Given the description of an element on the screen output the (x, y) to click on. 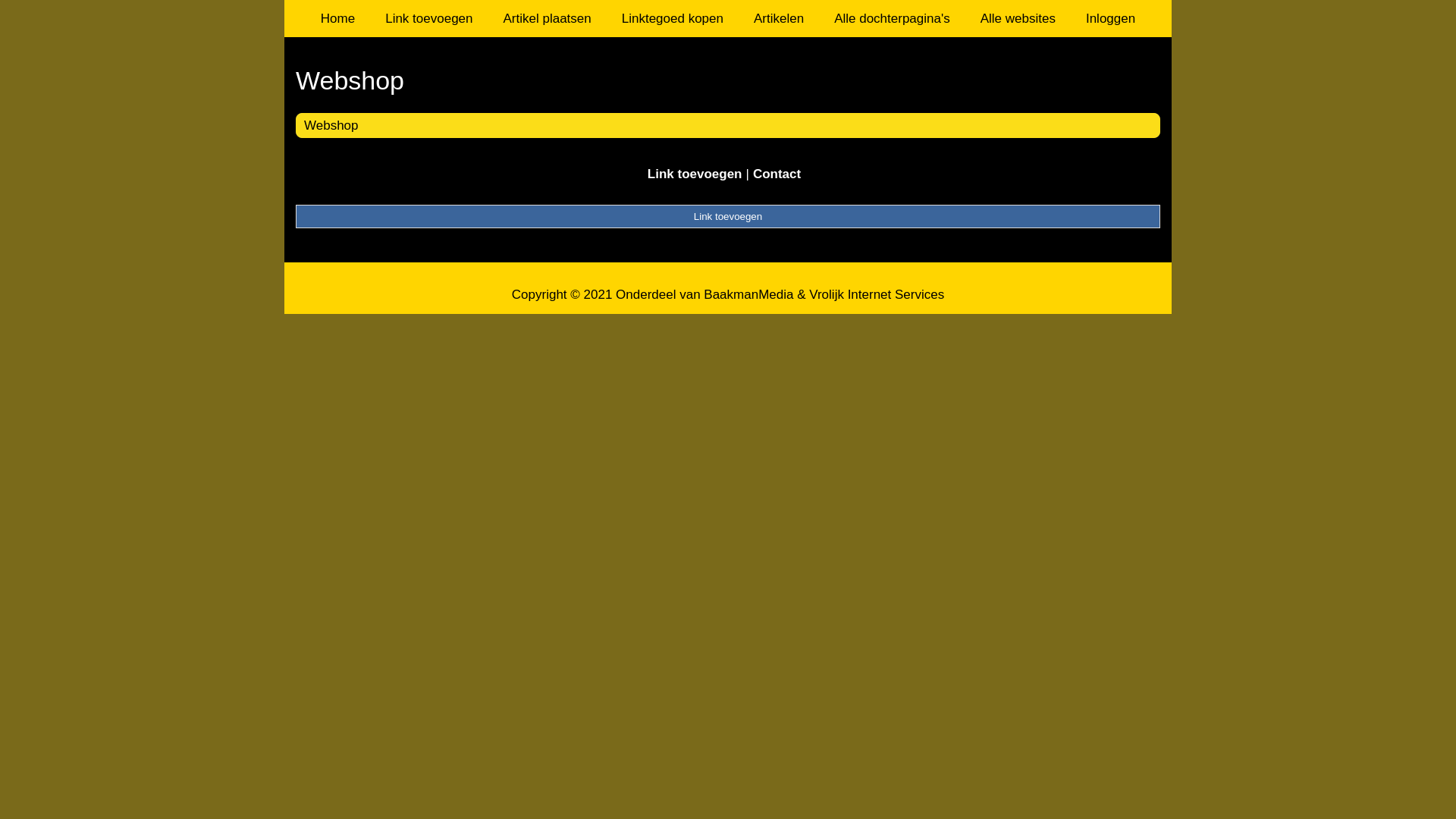
Link toevoegen Element type: text (694, 173)
Artikelen Element type: text (778, 18)
Home Element type: text (337, 18)
Vrolijk Internet Services Element type: text (876, 294)
Alle dochterpagina's Element type: text (892, 18)
Contact Element type: text (776, 173)
Webshop Element type: text (727, 80)
Linktegoed kopen Element type: text (672, 18)
Alle websites Element type: text (1017, 18)
Artikel plaatsen Element type: text (547, 18)
BaakmanMedia Element type: text (748, 294)
Link toevoegen Element type: text (428, 18)
Inloggen Element type: text (1110, 18)
Link toevoegen Element type: text (727, 215)
Webshop Element type: text (331, 125)
